Given the description of an element on the screen output the (x, y) to click on. 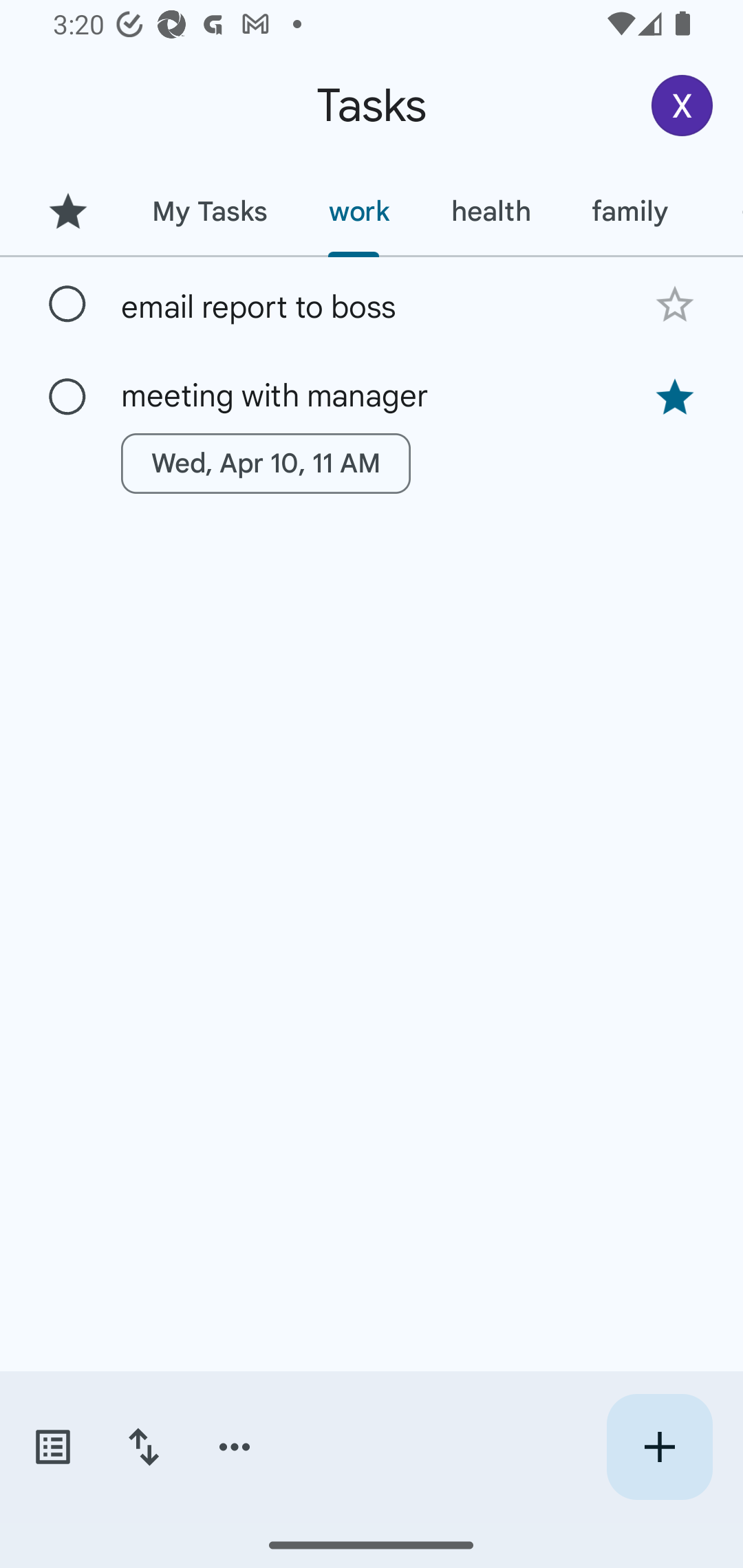
Starred (67, 211)
My Tasks (209, 211)
health (490, 211)
family (629, 211)
Add star (674, 303)
Mark as complete (67, 304)
Remove star (674, 397)
Mark as complete (67, 397)
Wed, Apr 10, 11 AM (265, 463)
Switch task lists (52, 1447)
Create new task (659, 1446)
Change sort order (143, 1446)
More options (234, 1446)
